Given the description of an element on the screen output the (x, y) to click on. 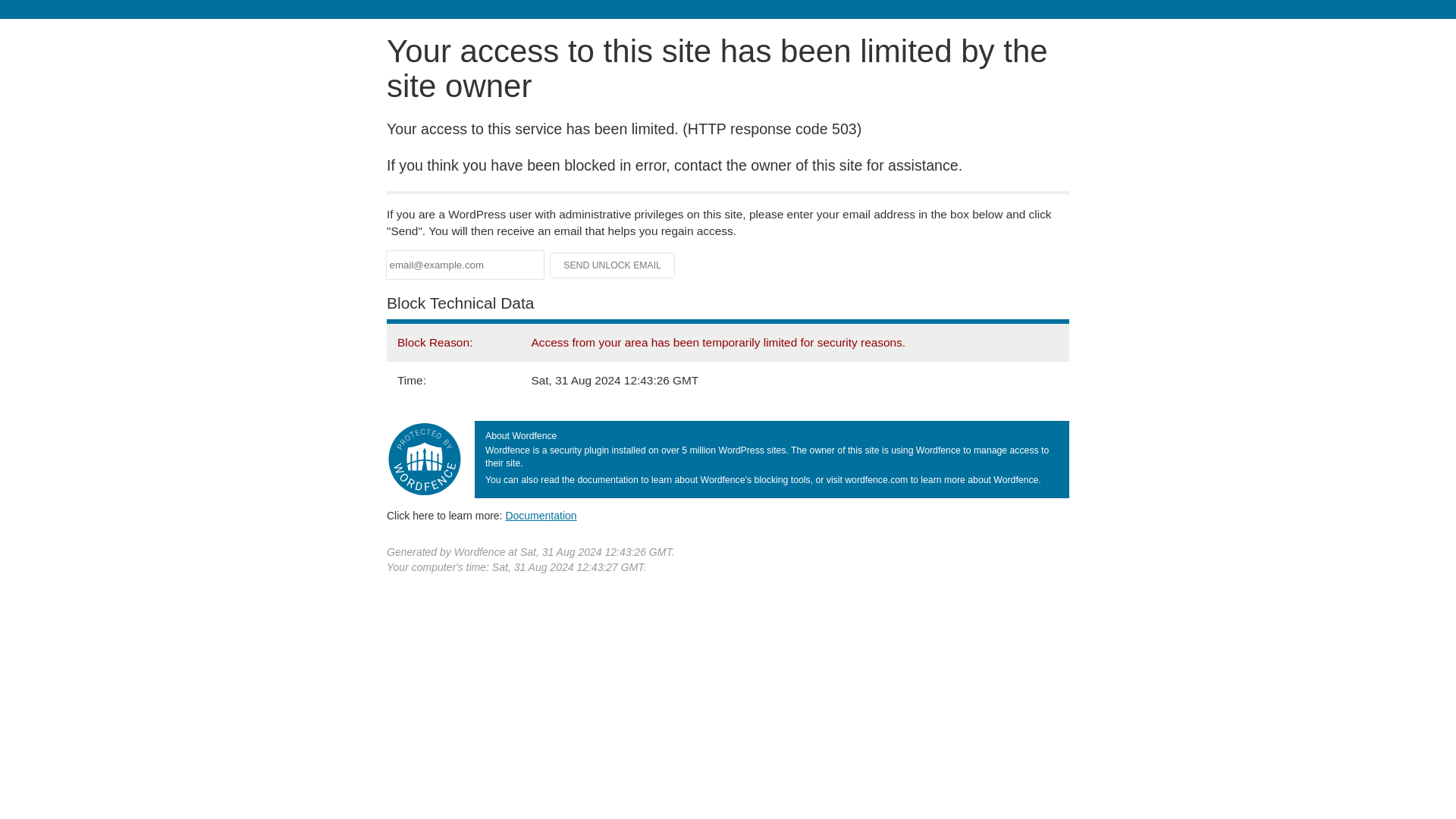
Send Unlock Email (612, 265)
Send Unlock Email (612, 265)
Documentation (540, 515)
